Given the description of an element on the screen output the (x, y) to click on. 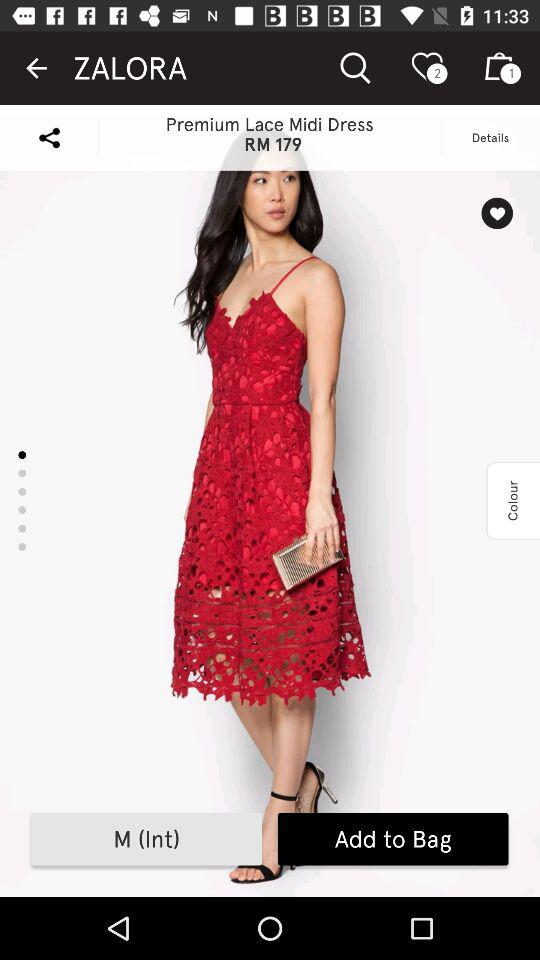
open icon next to add to bag icon (146, 839)
